Given the description of an element on the screen output the (x, y) to click on. 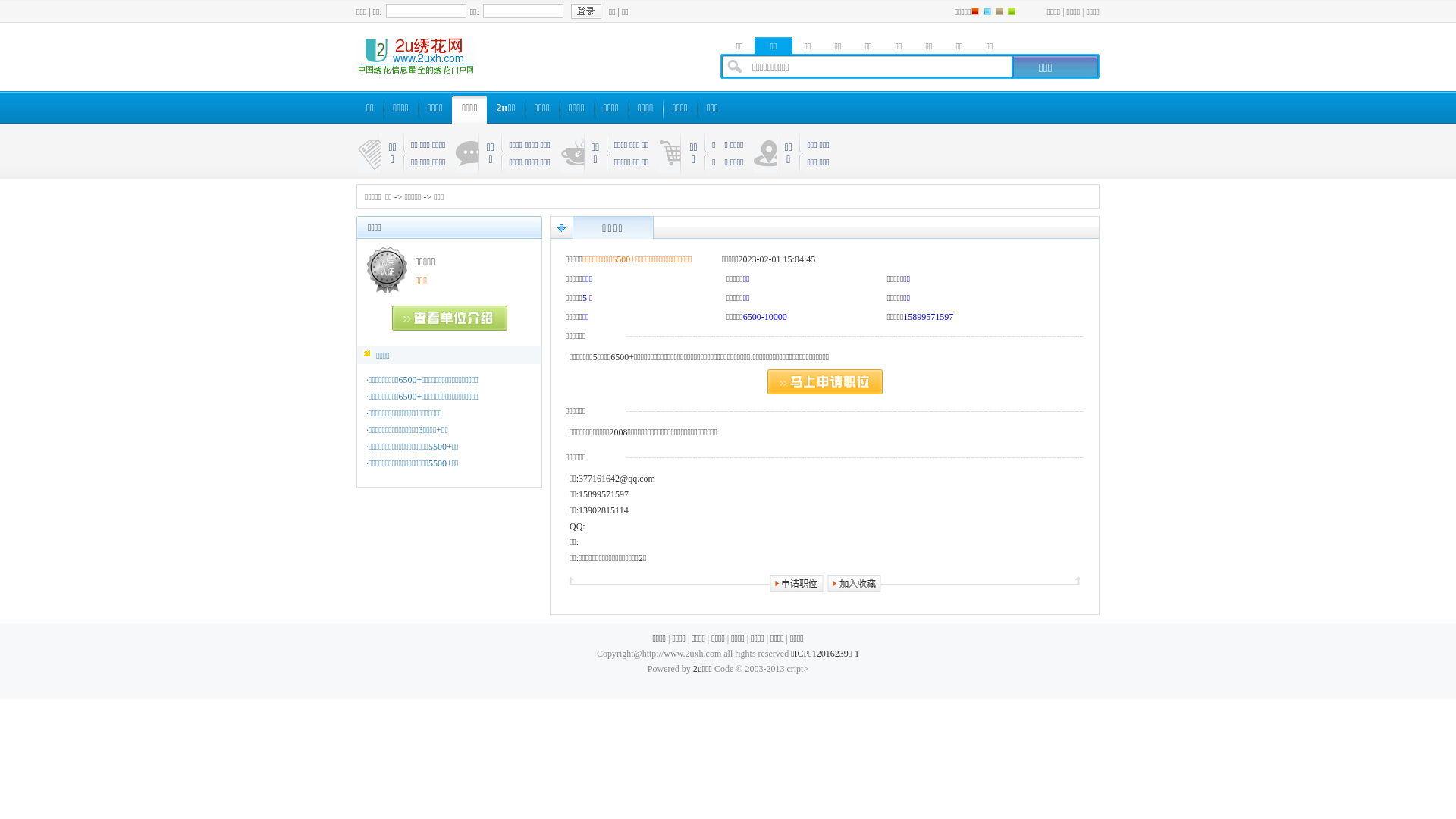
2023-02-01 15:04:45 Element type: text (776, 259)
